Given the description of an element on the screen output the (x, y) to click on. 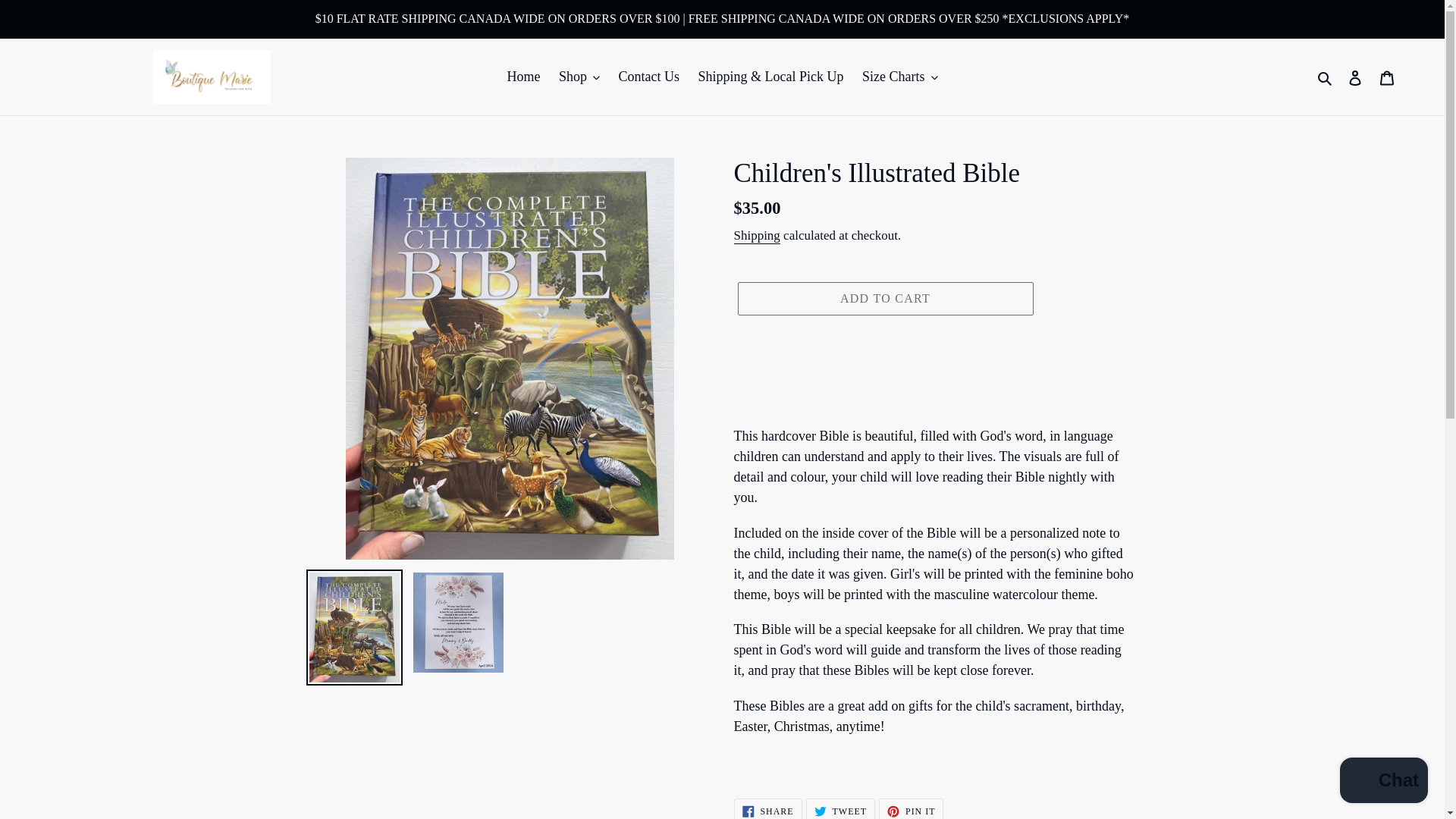
Shopify online store chat (1383, 781)
Shop (579, 76)
Home (523, 76)
